Given the description of an element on the screen output the (x, y) to click on. 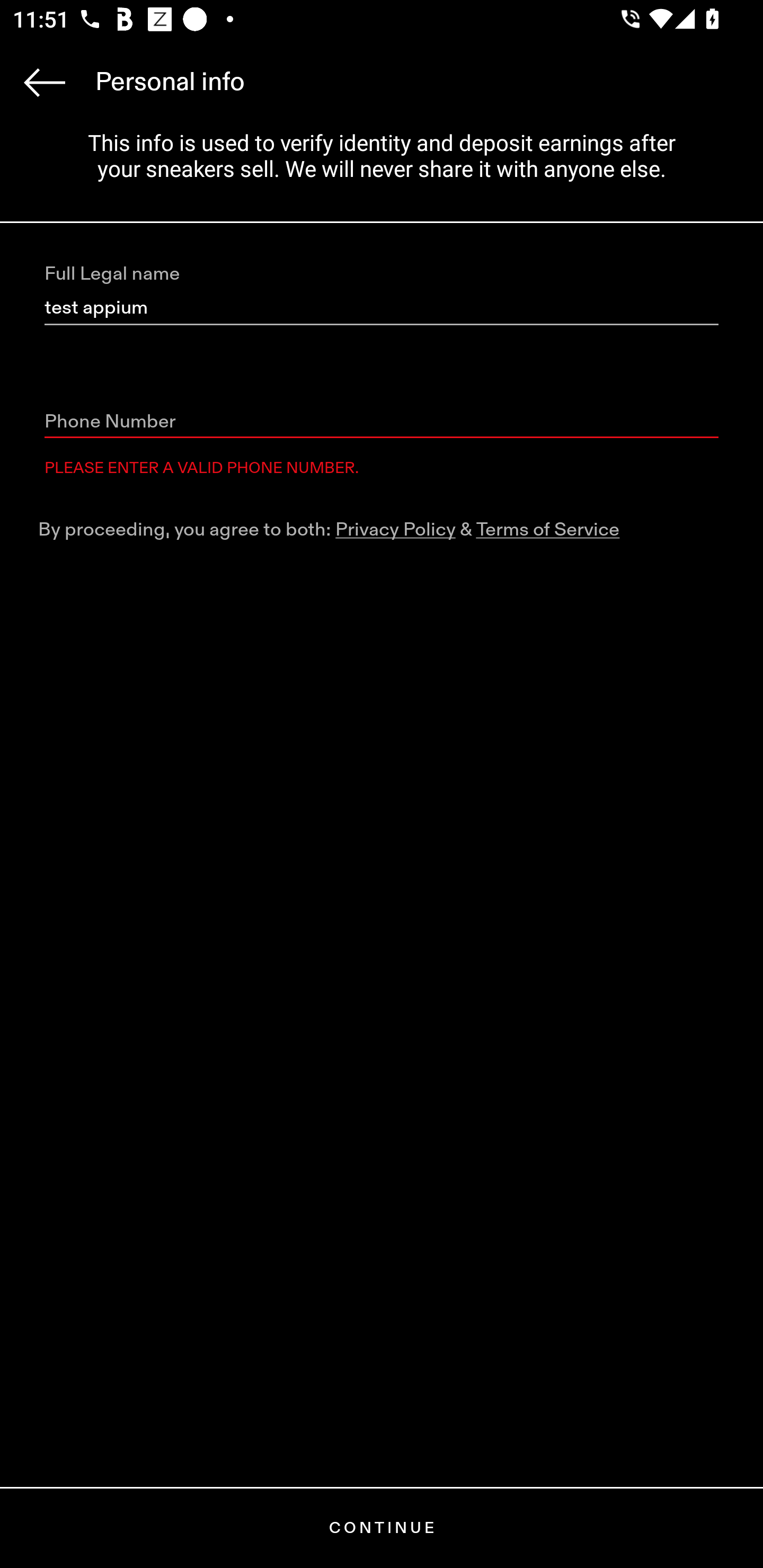
Navigate up (44, 82)
test appium (381, 308)
Phone Number (381, 422)
CONTINUE (381, 1528)
